Given the description of an element on the screen output the (x, y) to click on. 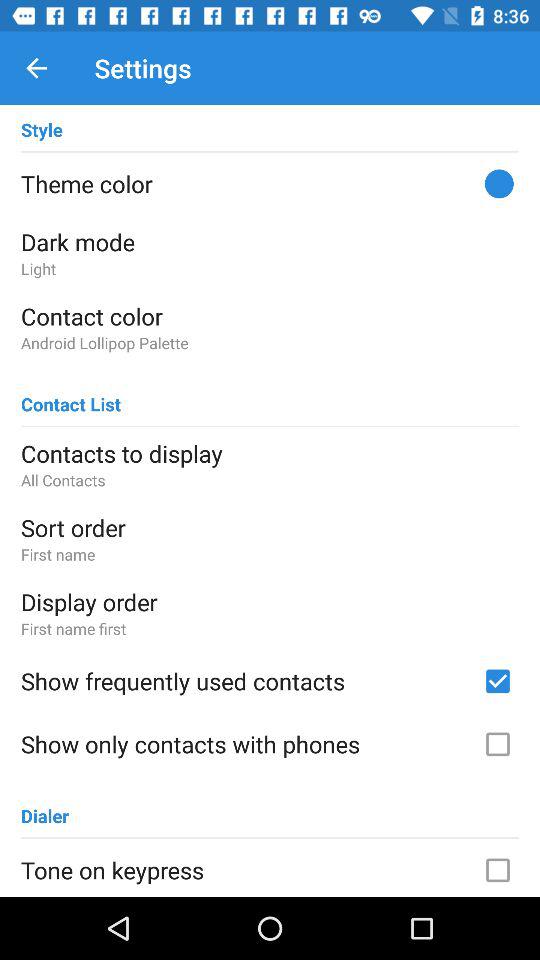
tap the dark mode (270, 242)
